Given the description of an element on the screen output the (x, y) to click on. 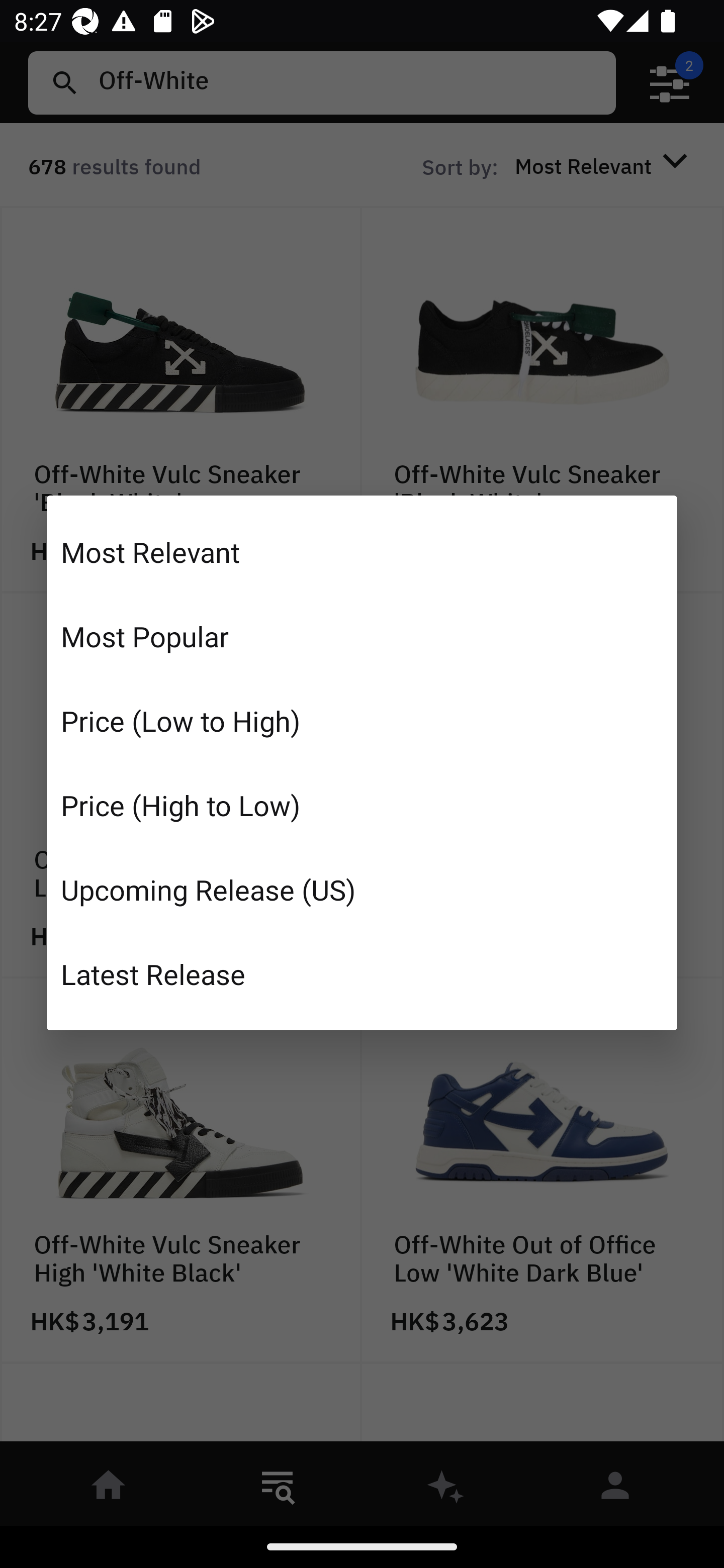
Most Relevant (361, 551)
Most Popular (361, 636)
Price (Low to High) (361, 720)
Price (High to Low) (361, 804)
Upcoming Release (US) (361, 888)
Latest Release (361, 973)
